Given the description of an element on the screen output the (x, y) to click on. 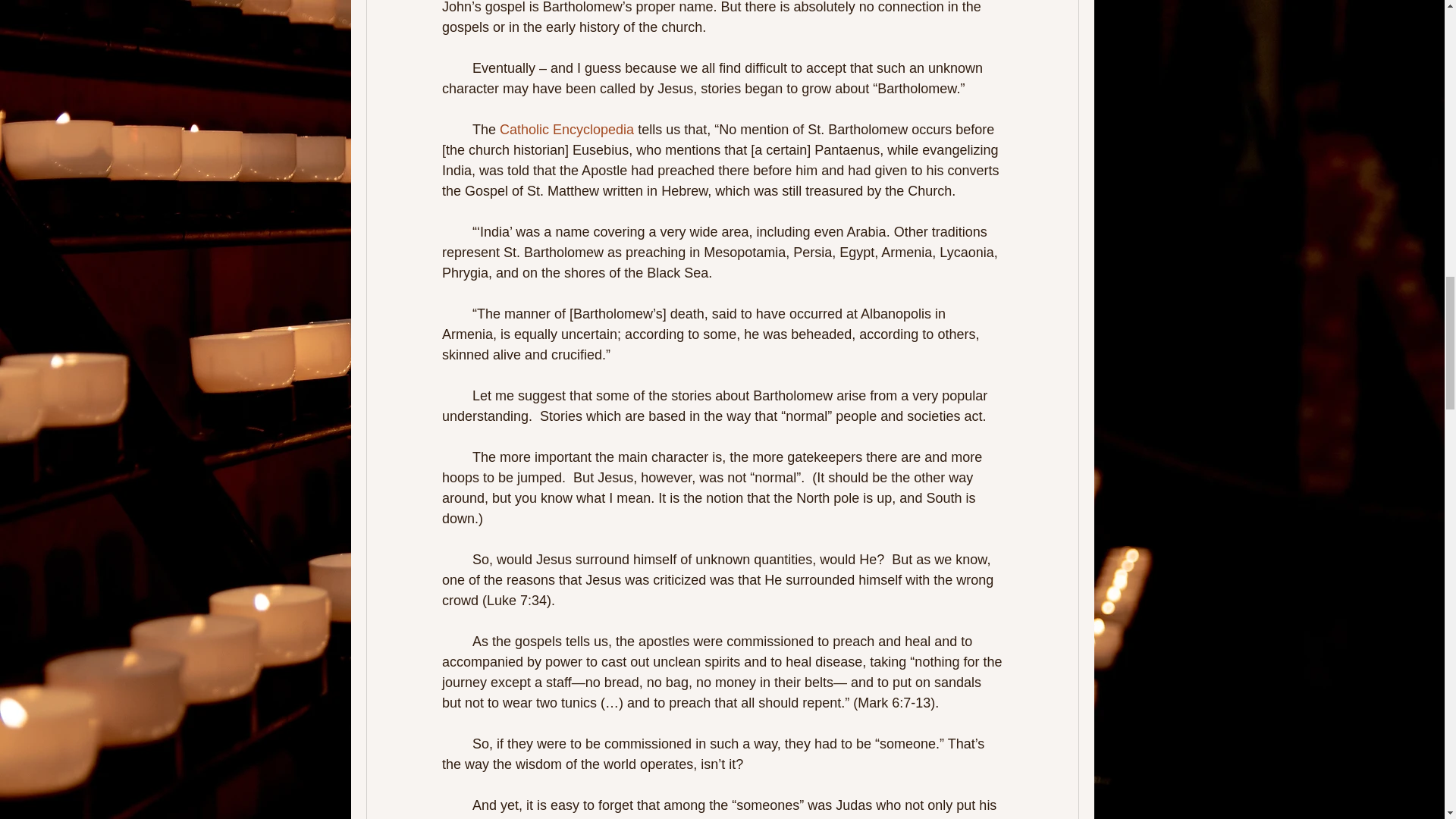
Catholic Encyclopedia (566, 129)
